Given the description of an element on the screen output the (x, y) to click on. 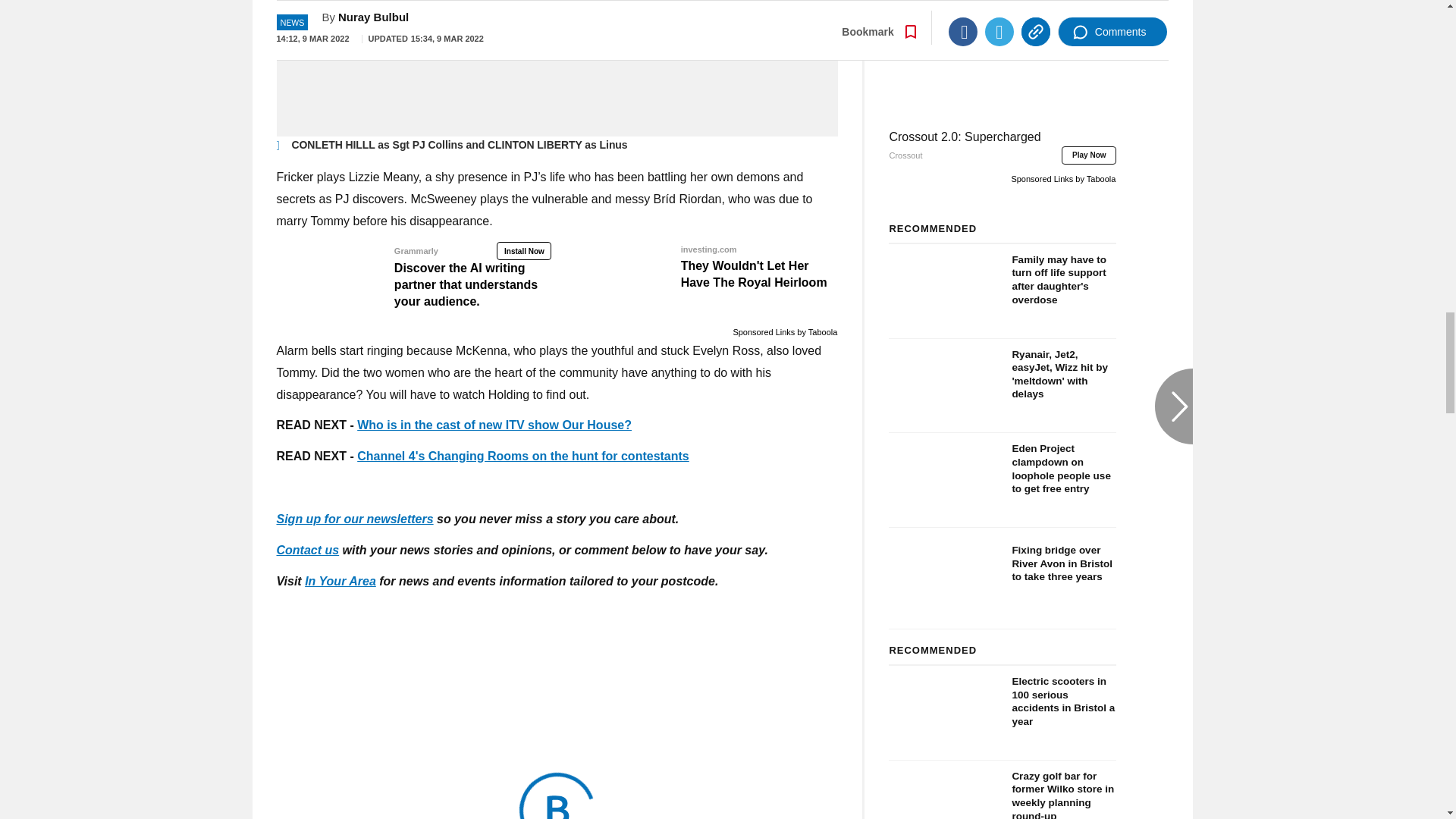
They Wouldn't Let Her Have The Royal Heirloom (700, 265)
